Given the description of an element on the screen output the (x, y) to click on. 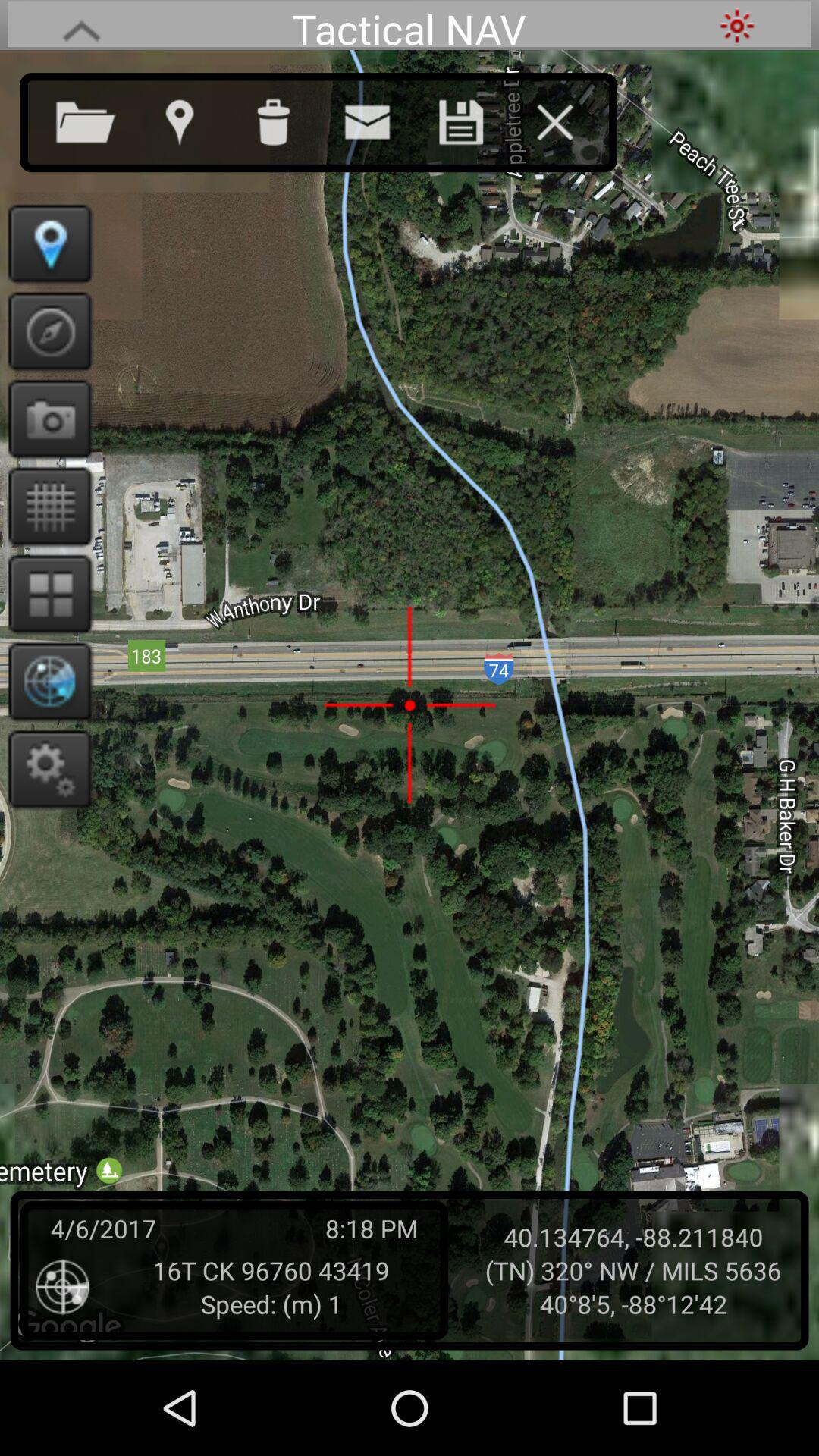
view settings (45, 768)
